Given the description of an element on the screen output the (x, y) to click on. 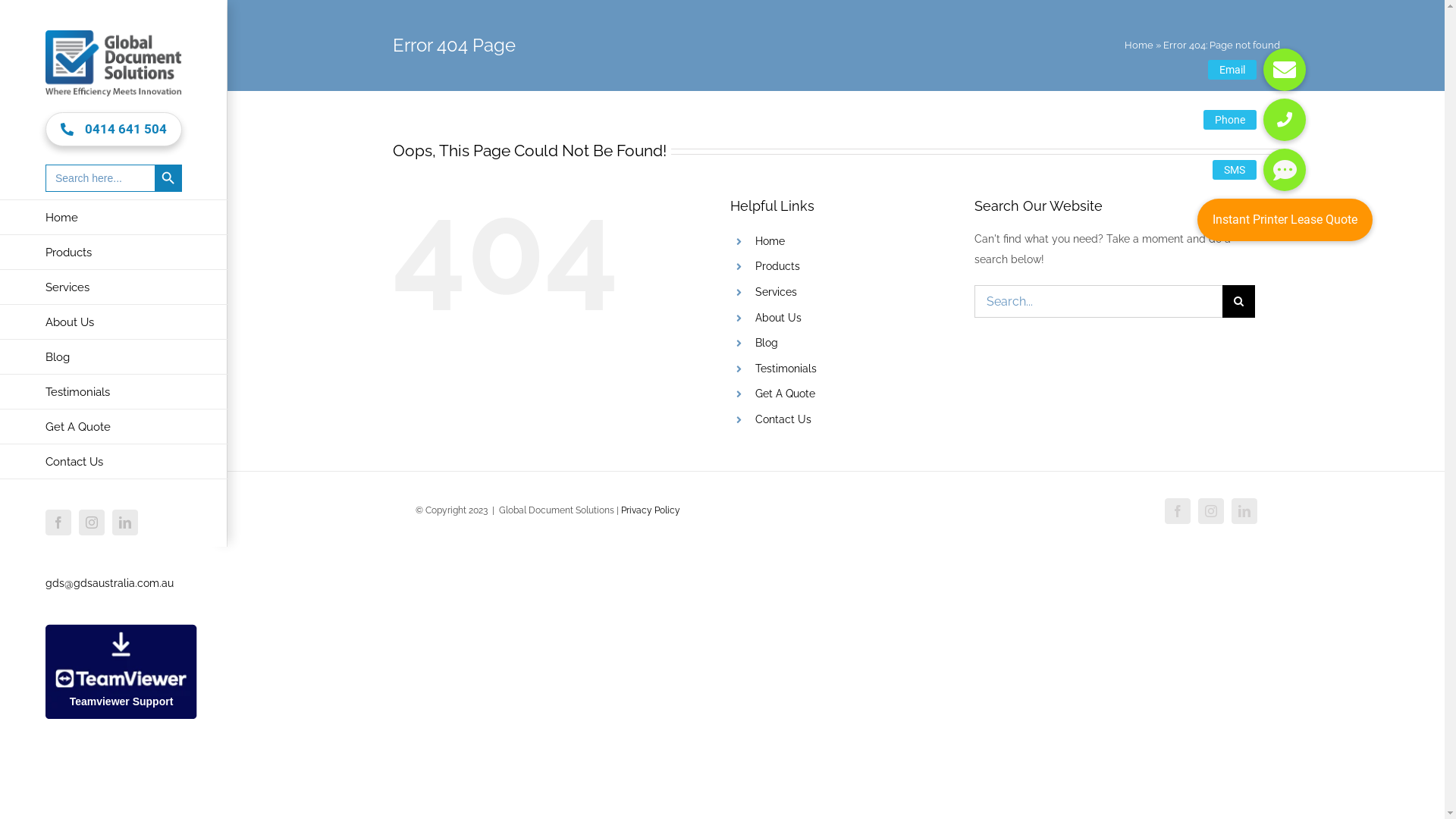
Instagram Element type: text (91, 522)
Instagram Element type: text (1210, 511)
Blog Element type: text (113, 356)
Teamviewer Support Element type: text (121, 633)
Search Button Element type: text (168, 177)
Home Element type: text (1137, 44)
Instant Printer Lease Quote Element type: text (1284, 219)
Privacy Policy Element type: text (649, 510)
Home Element type: text (113, 217)
0414 641 504 Element type: text (113, 129)
LinkedIn Element type: text (1244, 511)
Blog Element type: text (766, 342)
Testimonials Element type: text (113, 391)
Services Element type: text (113, 286)
Home Element type: text (769, 241)
LinkedIn Element type: text (125, 522)
Products Element type: text (777, 266)
Get A Quote Element type: text (785, 393)
gds@gdsaustralia.com.au Element type: text (109, 583)
Remote Access and Support over the Internet with TeamViewer Element type: hover (121, 671)
Facebook Element type: text (1177, 511)
Phone Element type: text (1284, 119)
Facebook Element type: text (58, 522)
About Us Element type: text (778, 317)
Testimonials Element type: text (785, 368)
Services Element type: text (776, 291)
Get A Quote Element type: text (113, 426)
Products Element type: text (113, 252)
SMS Element type: text (1284, 169)
Email Element type: text (1284, 69)
Contact Us Element type: text (783, 419)
About Us Element type: text (113, 321)
Contact Us Element type: text (113, 461)
